Given the description of an element on the screen output the (x, y) to click on. 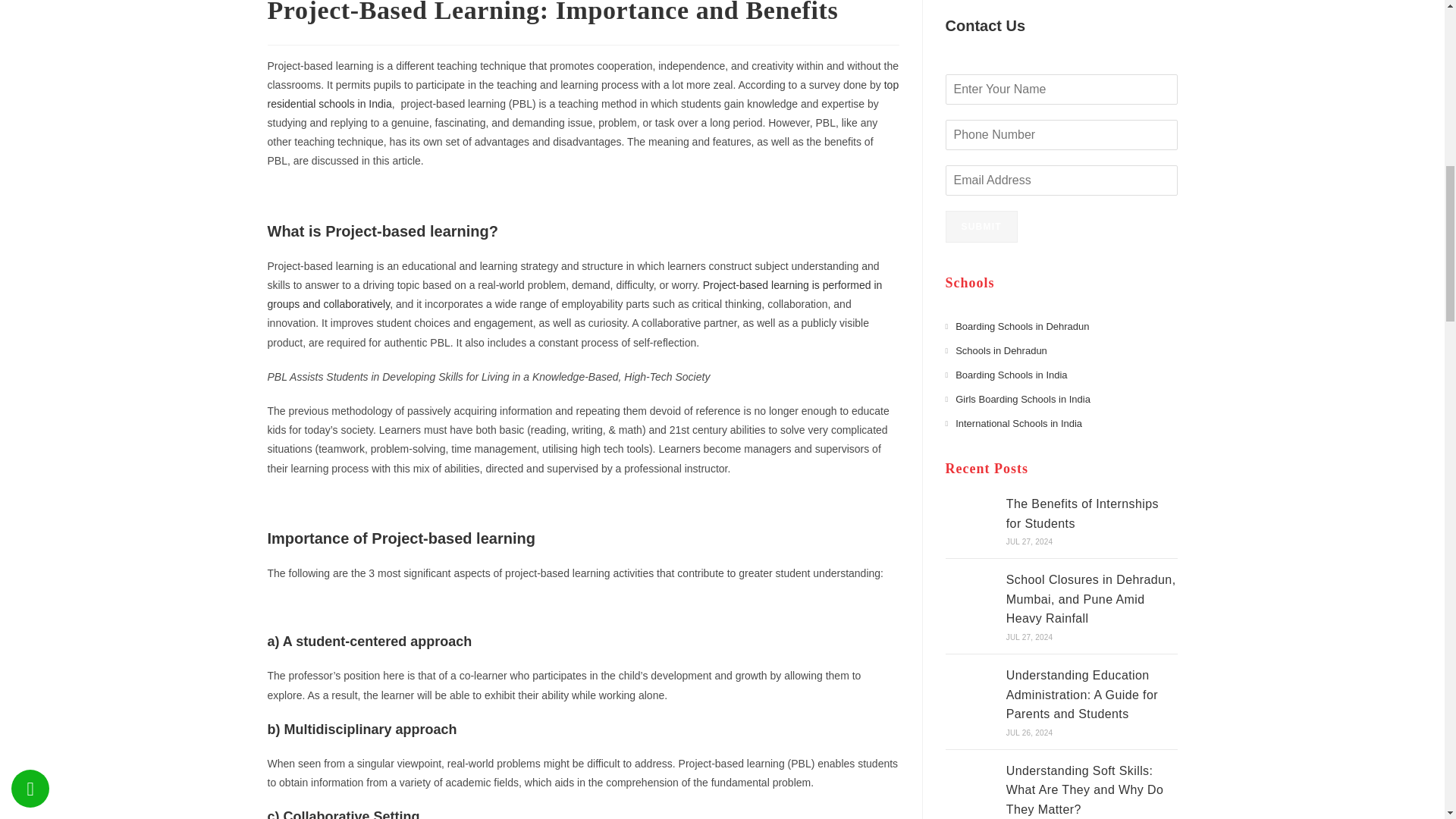
top residential schools in India (582, 93)
What Is the Foundation of Effective Teamwork? (969, 581)
